Given the description of an element on the screen output the (x, y) to click on. 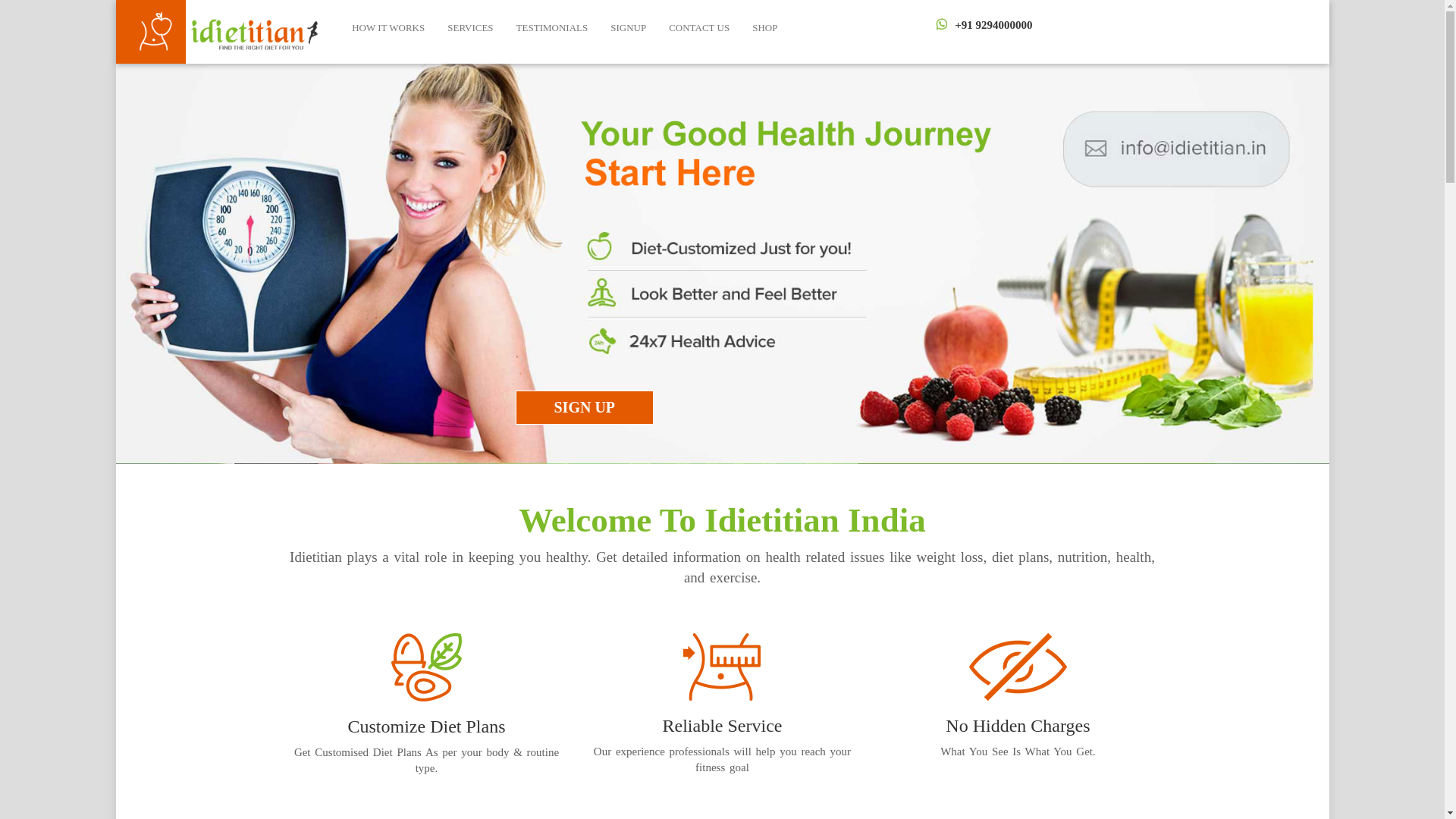
HOW IT WORKS (387, 28)
SERVICES (469, 28)
